Given the description of an element on the screen output the (x, y) to click on. 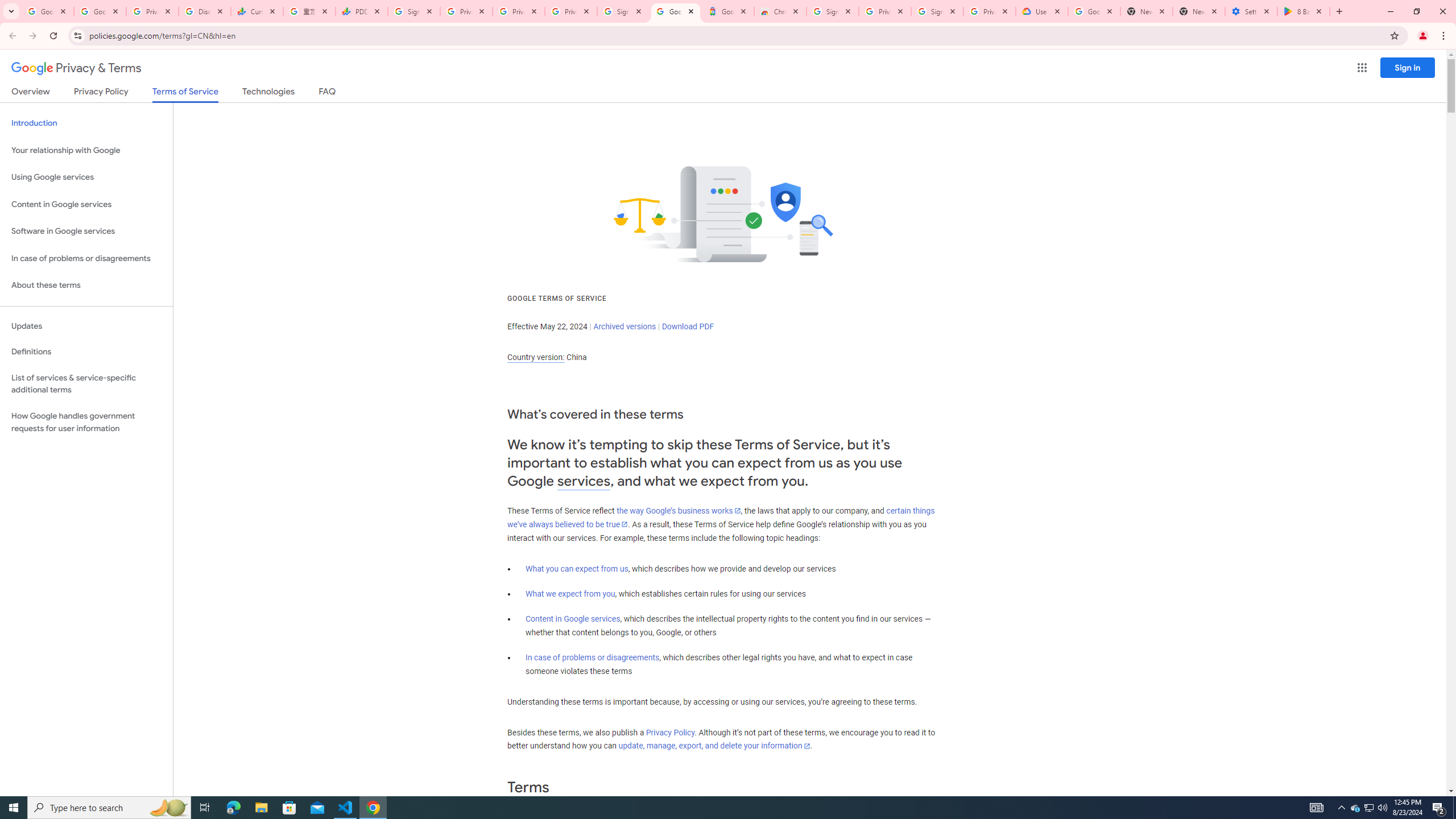
Country version: (535, 357)
Sign in - Google Accounts (413, 11)
Introduction (86, 122)
Sign in - Google Accounts (623, 11)
Definitions (86, 352)
